Given the description of an element on the screen output the (x, y) to click on. 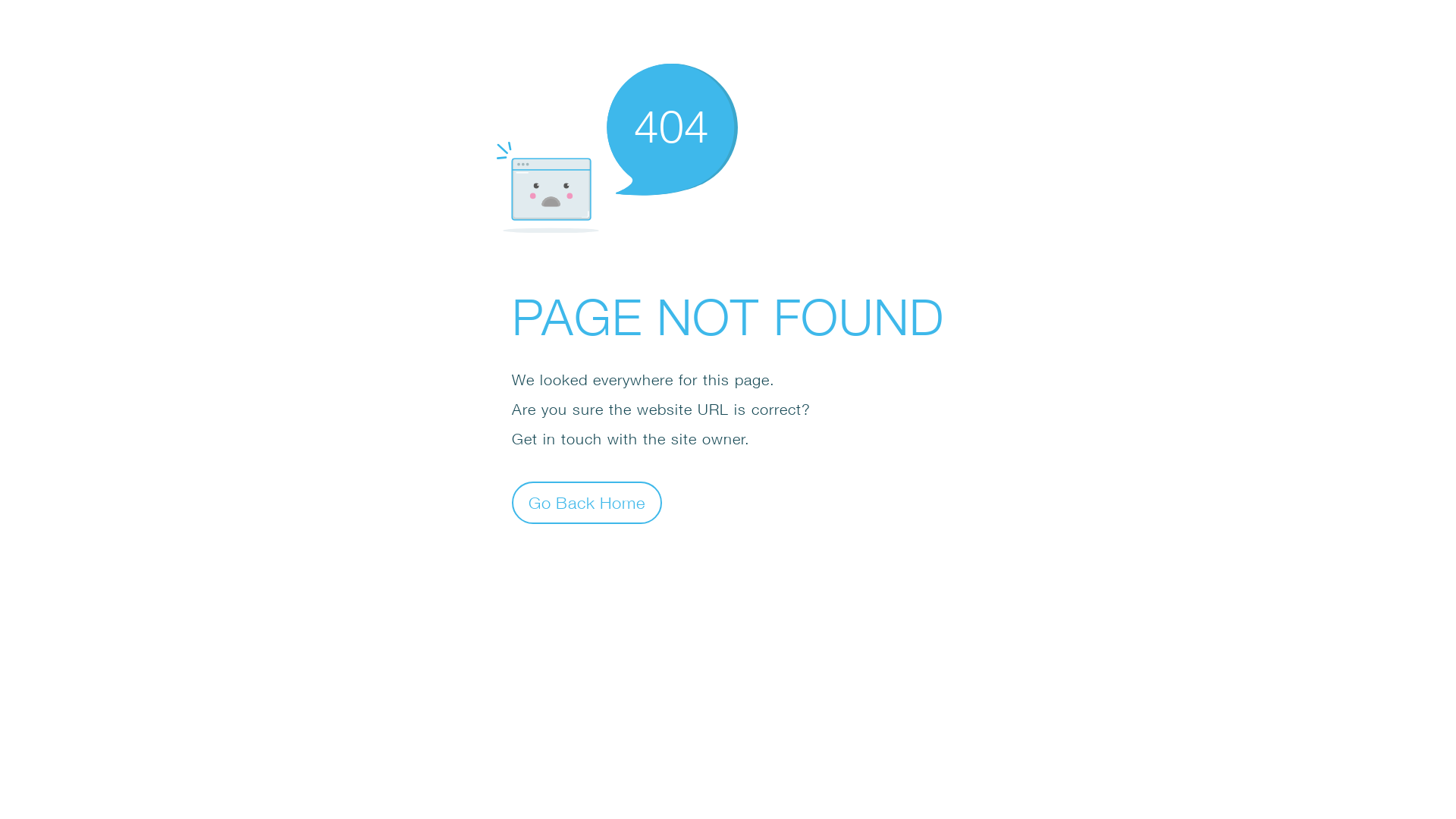
Go Back Home Element type: text (586, 502)
